Given the description of an element on the screen output the (x, y) to click on. 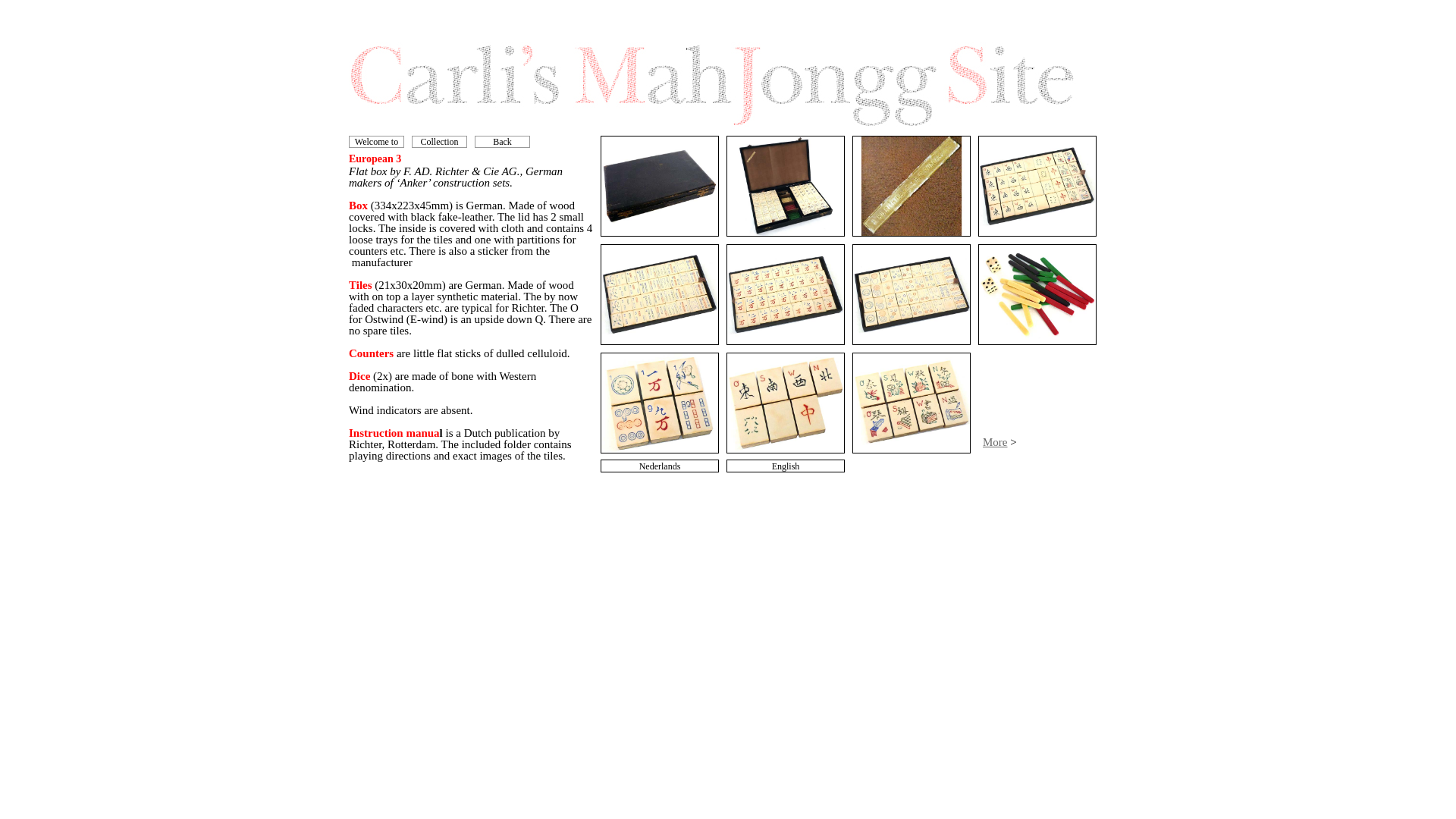
More (994, 441)
Collection (438, 141)
Nederlands (659, 465)
Back (502, 141)
English (785, 465)
Nederlands (659, 465)
English (785, 465)
Welcome to my site! (376, 147)
